Given the description of an element on the screen output the (x, y) to click on. 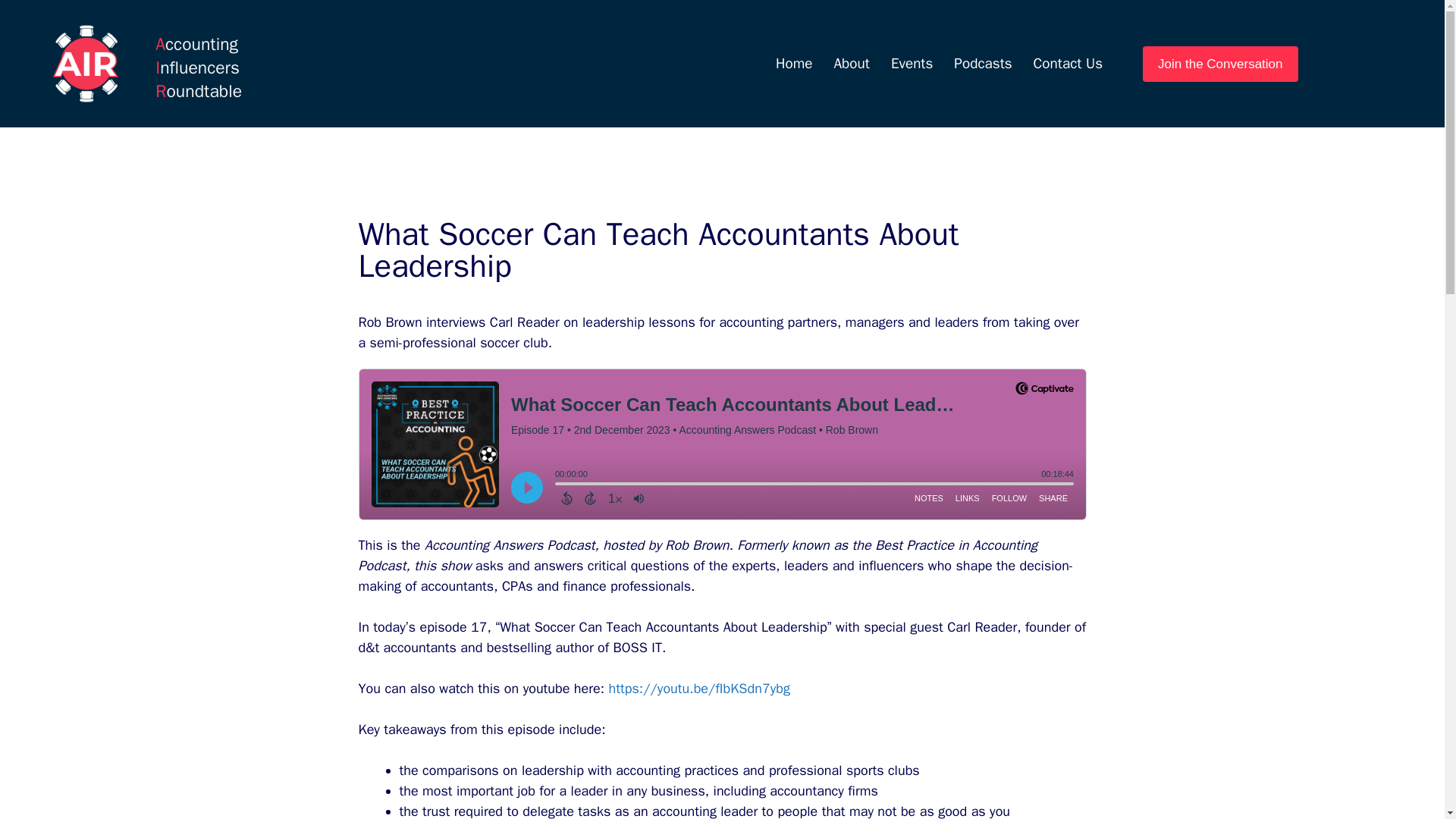
About (850, 63)
Home (794, 63)
Contact Us (1068, 63)
Join the Conversation (1219, 63)
Events (911, 63)
Podcasts (982, 63)
